Given the description of an element on the screen output the (x, y) to click on. 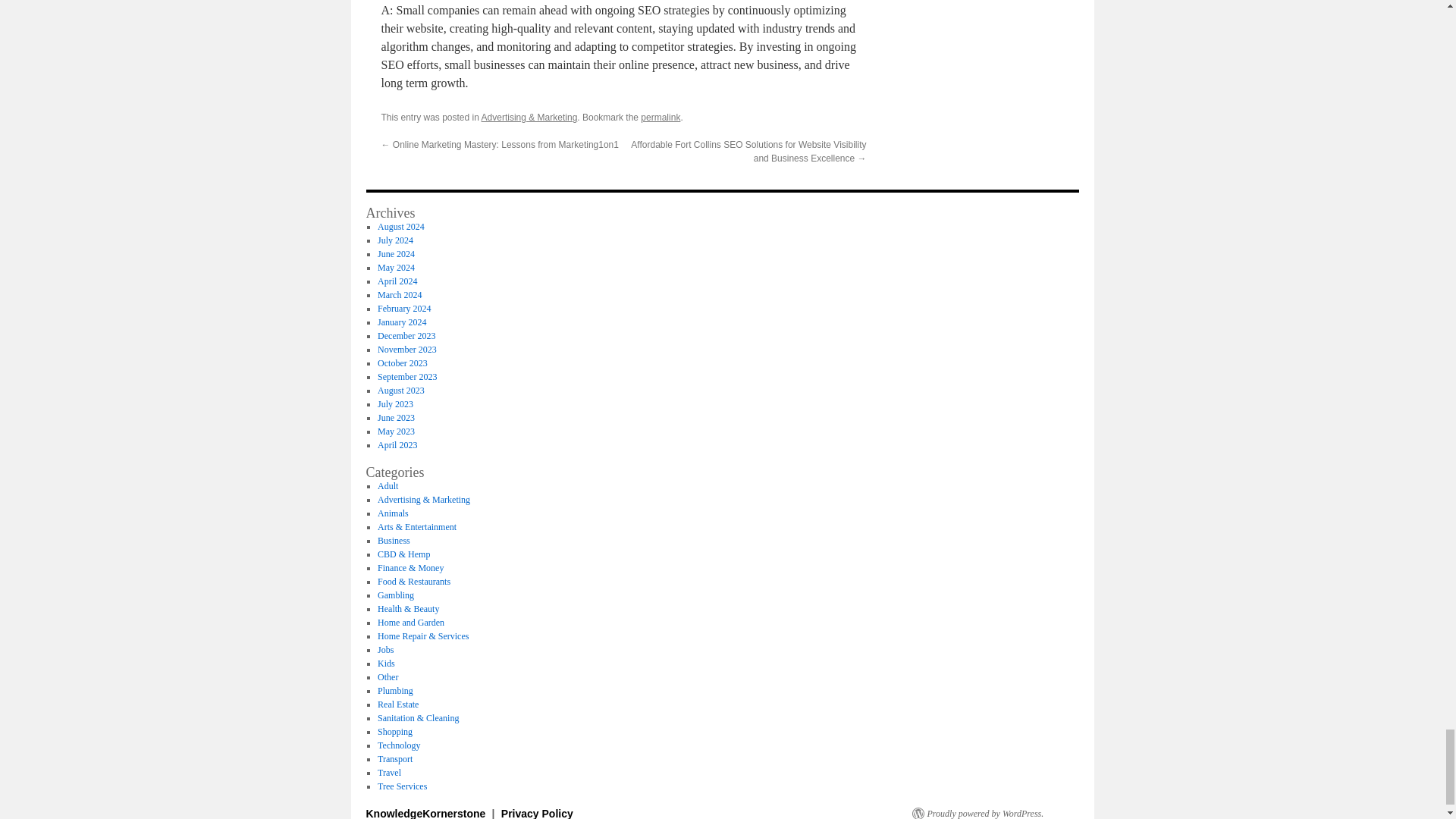
March 2024 (399, 294)
April 2024 (396, 281)
April 2023 (396, 444)
May 2023 (395, 430)
February 2024 (403, 308)
June 2024 (395, 253)
August 2024 (401, 226)
August 2023 (401, 389)
December 2023 (406, 335)
